Given the description of an element on the screen output the (x, y) to click on. 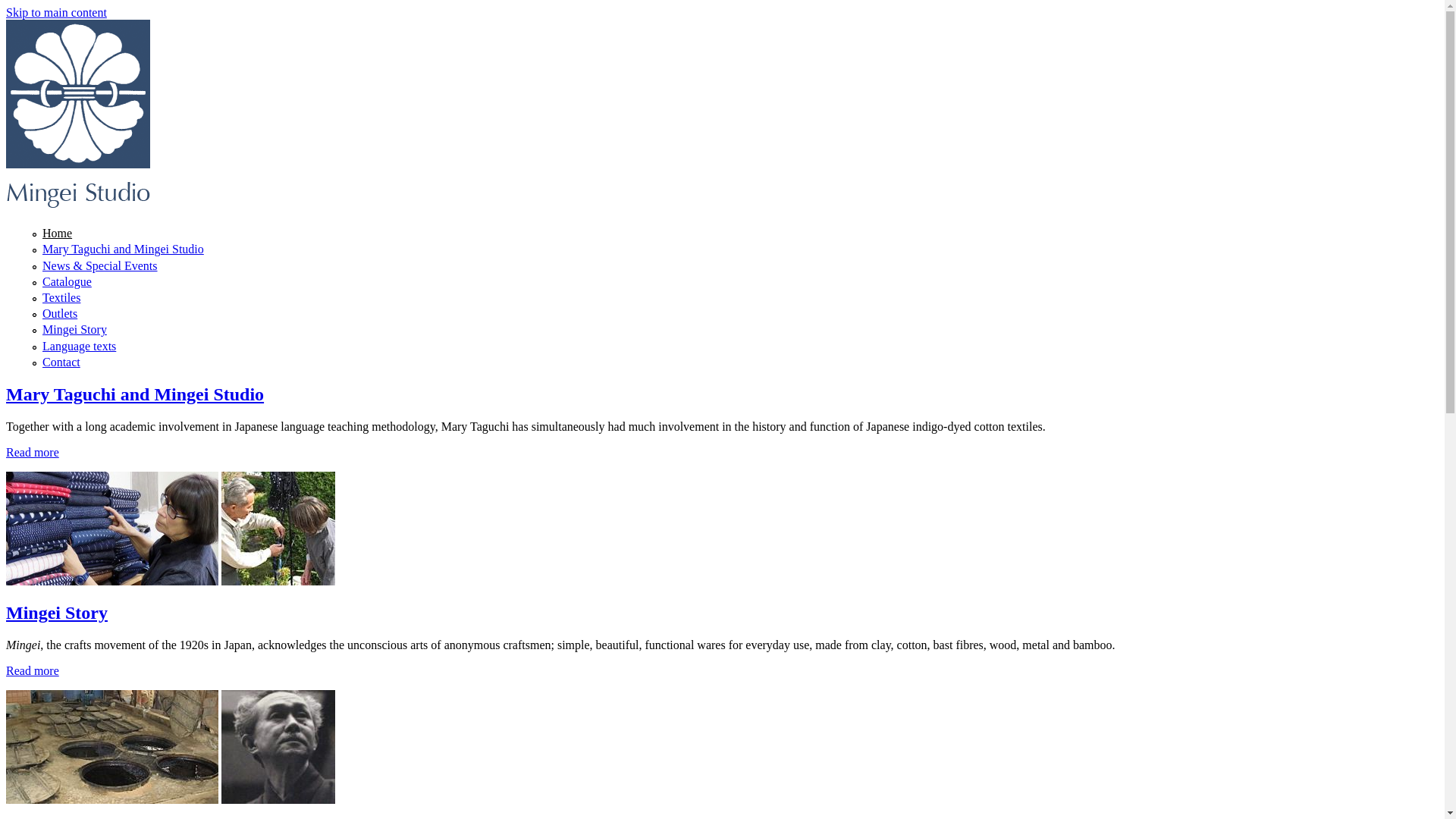
Read more Element type: text (32, 451)
Mingei Story Element type: text (74, 329)
Mary Taguchi and Mingei Studio Element type: text (122, 248)
Mary Taguchi and Mingei Studio Element type: text (134, 394)
Language texts Element type: text (79, 345)
Read more Element type: text (32, 670)
Textiles Element type: text (61, 297)
News & Special Events Element type: text (99, 265)
Outlets Element type: text (59, 313)
Catalogue Element type: text (66, 281)
Home Element type: text (57, 232)
Skip to main content Element type: text (56, 12)
Mingei Story Element type: text (56, 612)
Contact Element type: text (61, 361)
